Given the description of an element on the screen output the (x, y) to click on. 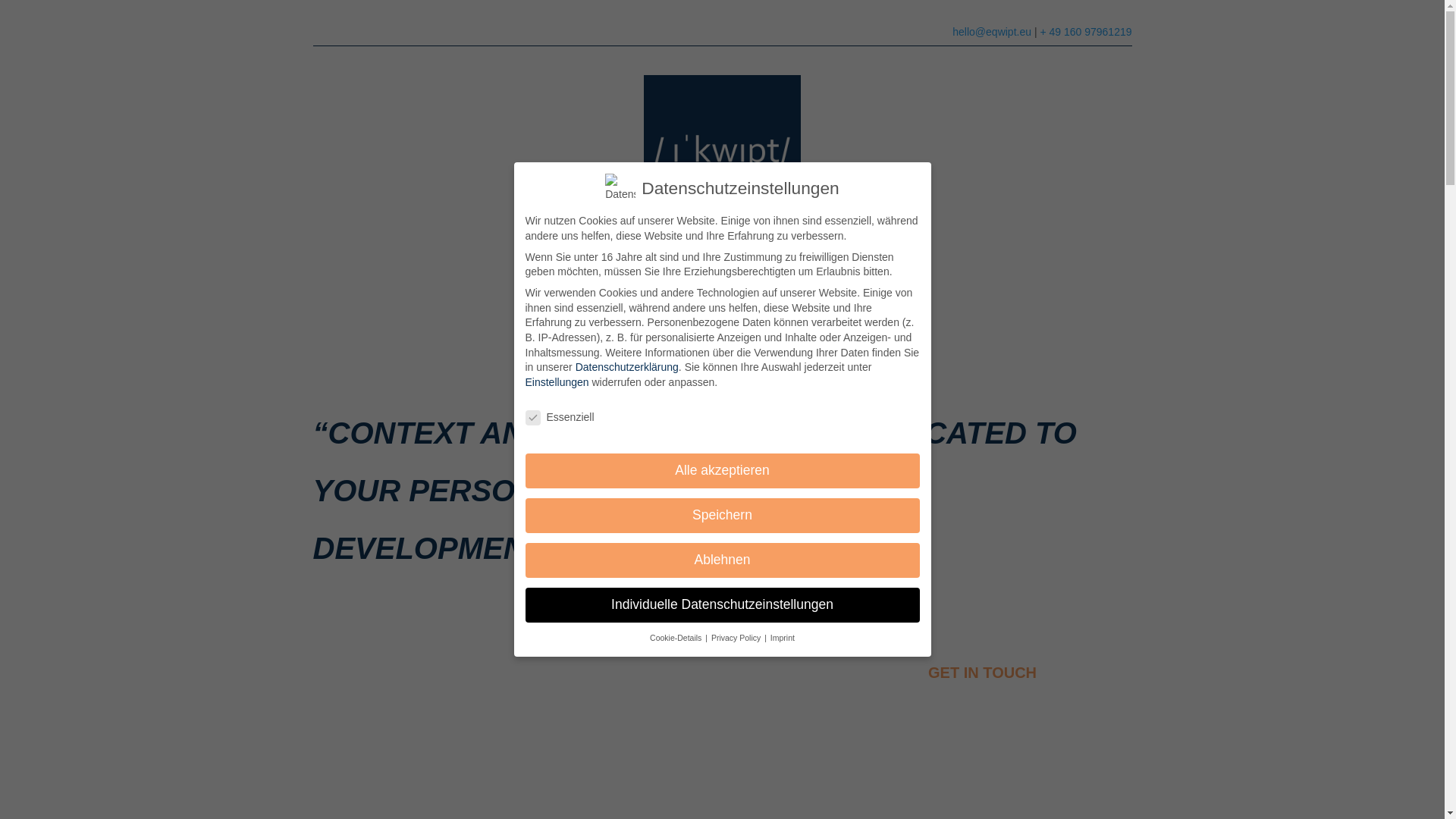
CSMS (900, 303)
cropped-Logo-Michael-Schellenberg.jpg (721, 153)
Alle akzeptieren (721, 470)
Customers (732, 303)
Portfolio (826, 303)
About (649, 303)
Einstellungen (556, 381)
GET IN TOUCH (981, 672)
Philosophy (565, 303)
